Given the description of an element on the screen output the (x, y) to click on. 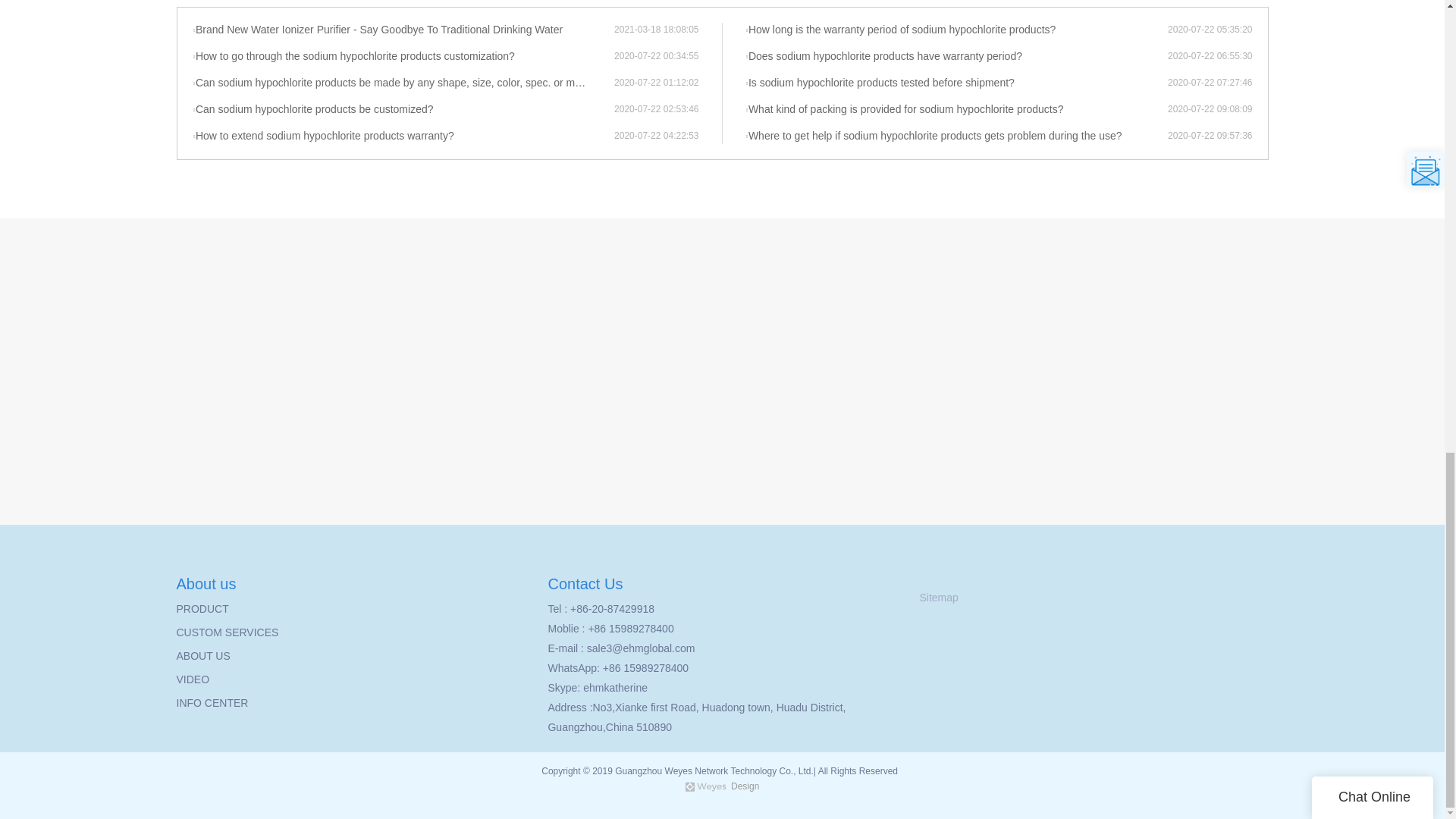
Is sodium hypochlorite products tested before shipment? (955, 83)
How to extend sodium hypochlorite products warranty? (403, 136)
Does sodium hypochlorite products have warranty period? (955, 56)
Can sodium hypochlorite products be customized? (403, 109)
